Given the description of an element on the screen output the (x, y) to click on. 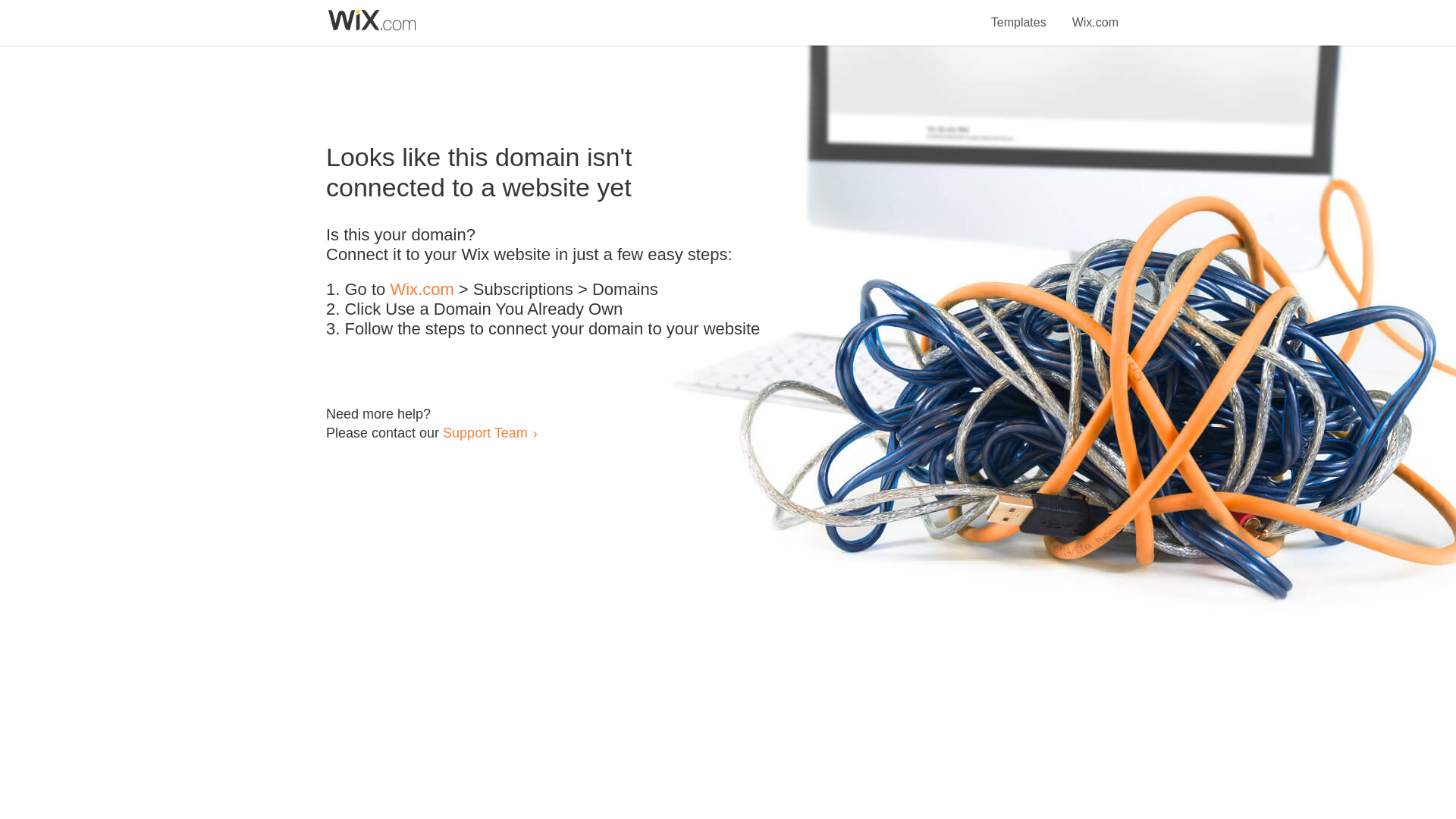
Wix.com (1095, 14)
Templates (1018, 14)
Wix.com (421, 289)
Support Team (484, 432)
